Given the description of an element on the screen output the (x, y) to click on. 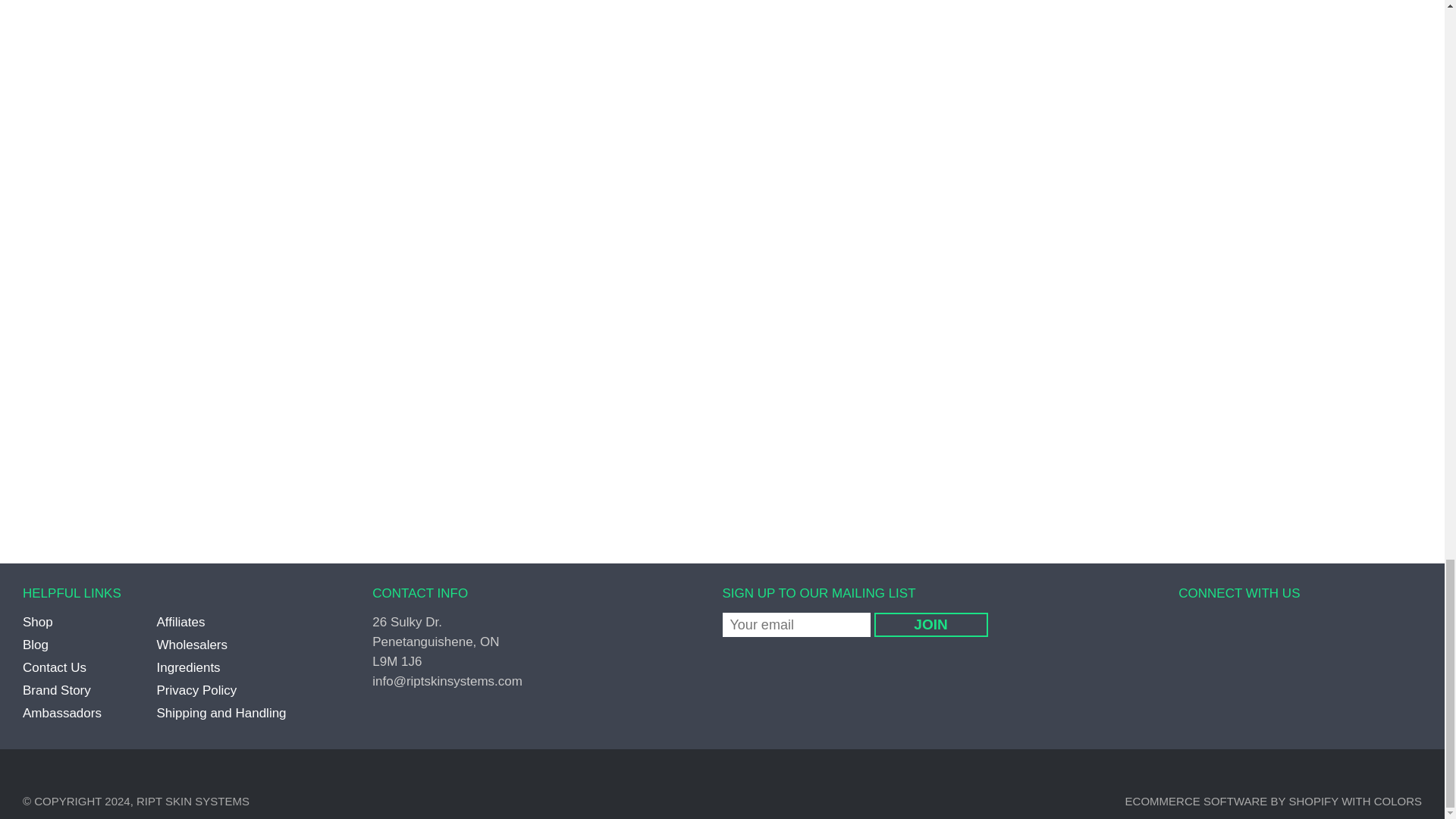
RIPT Skin Systems on Pinterest (1234, 631)
Shop (37, 622)
Blog (35, 644)
Wholesalers (191, 644)
Contact Us (54, 667)
join (930, 624)
RIPT Skin Systems on Twitter (1209, 631)
Ambassadors (62, 712)
Colors Theme on Shopify (1398, 800)
Brand Story (56, 690)
RIPT Skin Systems on Youtube (1292, 631)
Affiliates (180, 622)
Ingredients (187, 667)
